Given the description of an element on the screen output the (x, y) to click on. 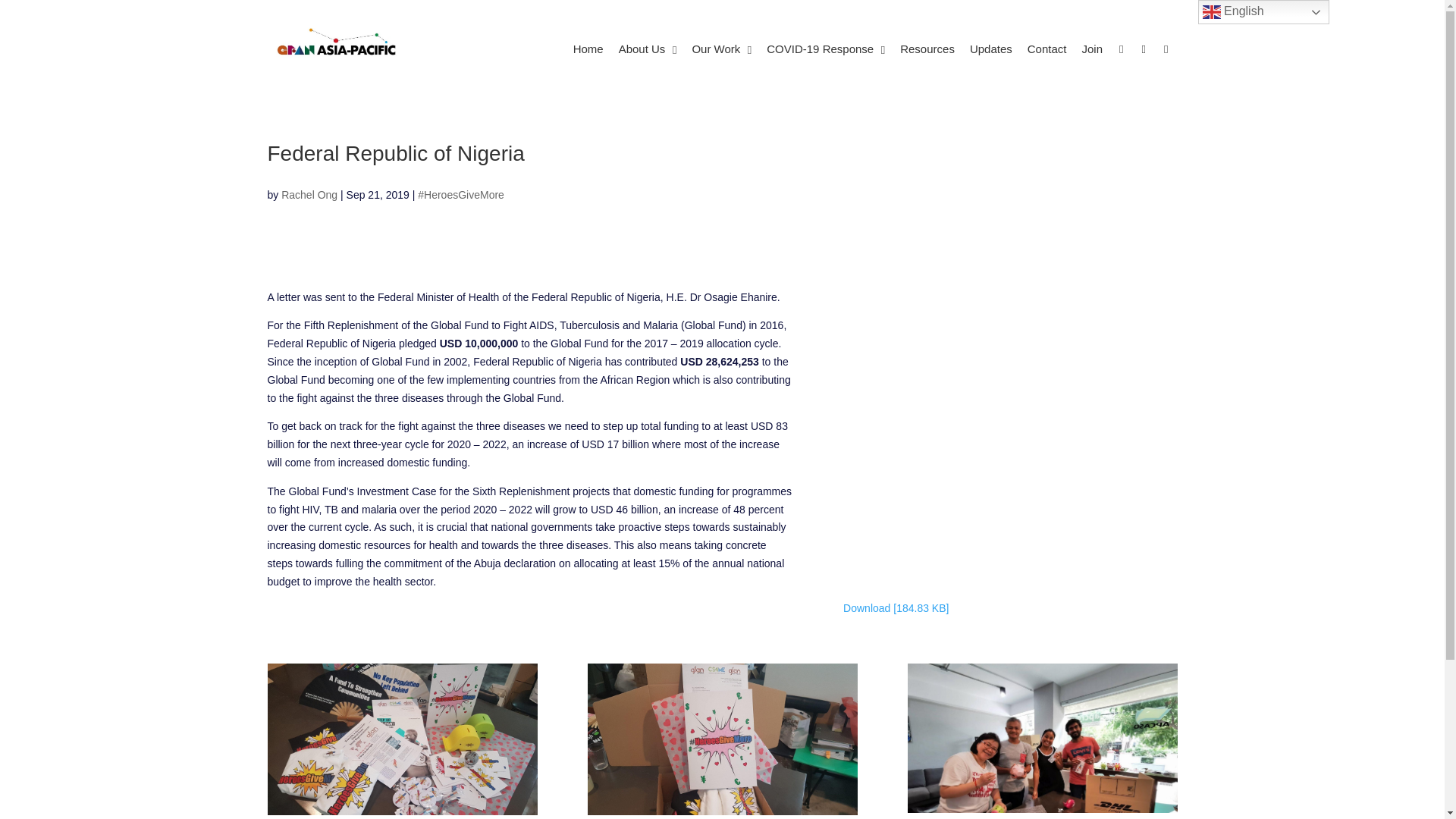
Posts by Rachel Ong (309, 194)
COVID-19 Response (825, 49)
About Us (647, 49)
Embedded Document (1009, 449)
facebook (1121, 49)
Resources (927, 49)
Contact (1047, 49)
Updates (991, 49)
Home (588, 49)
Join (1091, 49)
Rachel Ong (309, 194)
Our Work (721, 49)
